Given the description of an element on the screen output the (x, y) to click on. 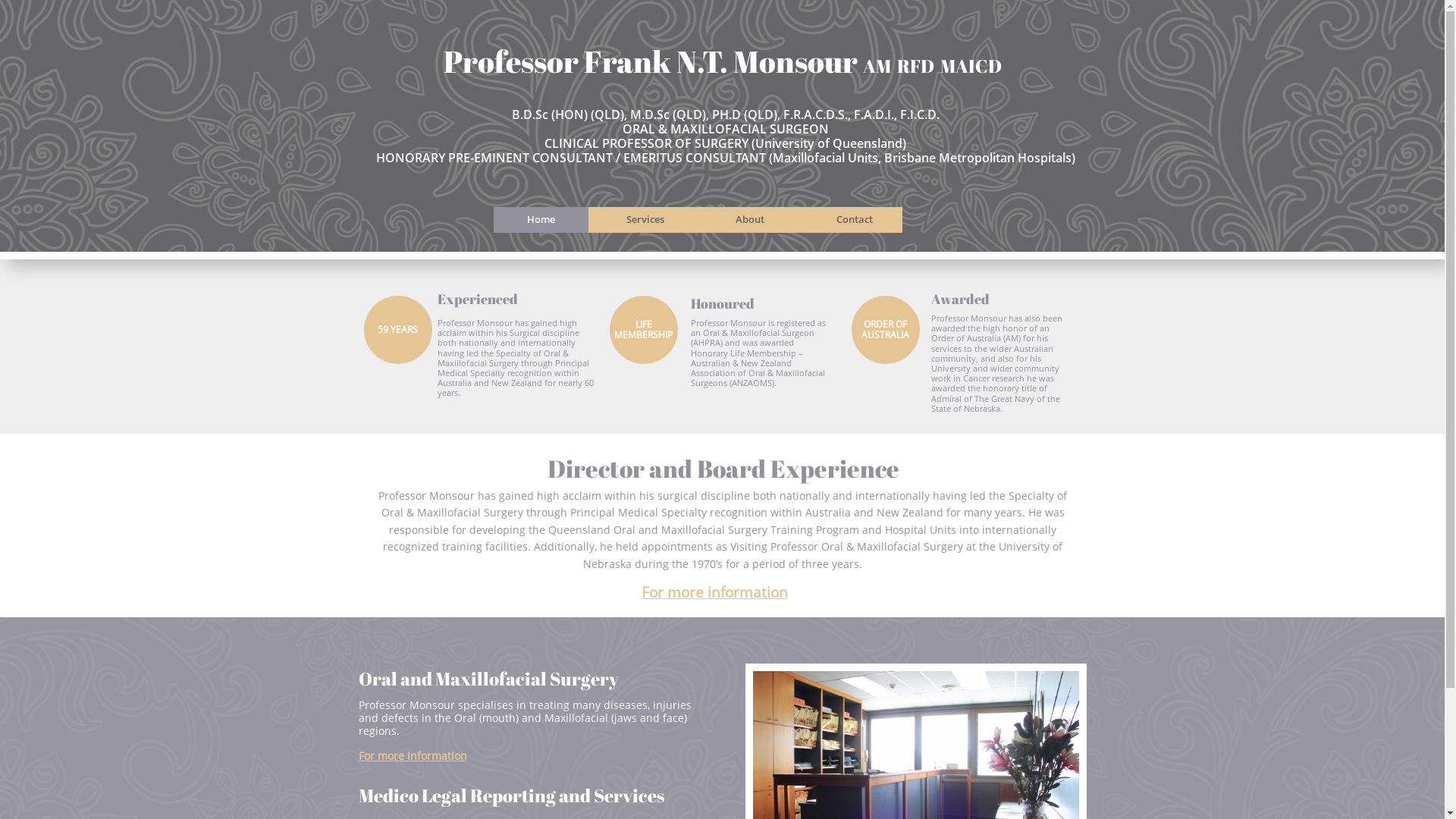
About Element type: text (749, 219)
Services Element type: text (644, 219)
For more information Element type: text (714, 592)
Home Element type: text (539, 219)
For more information Element type: text (411, 755)
Contact Element type: text (853, 219)
